Given the description of an element on the screen output the (x, y) to click on. 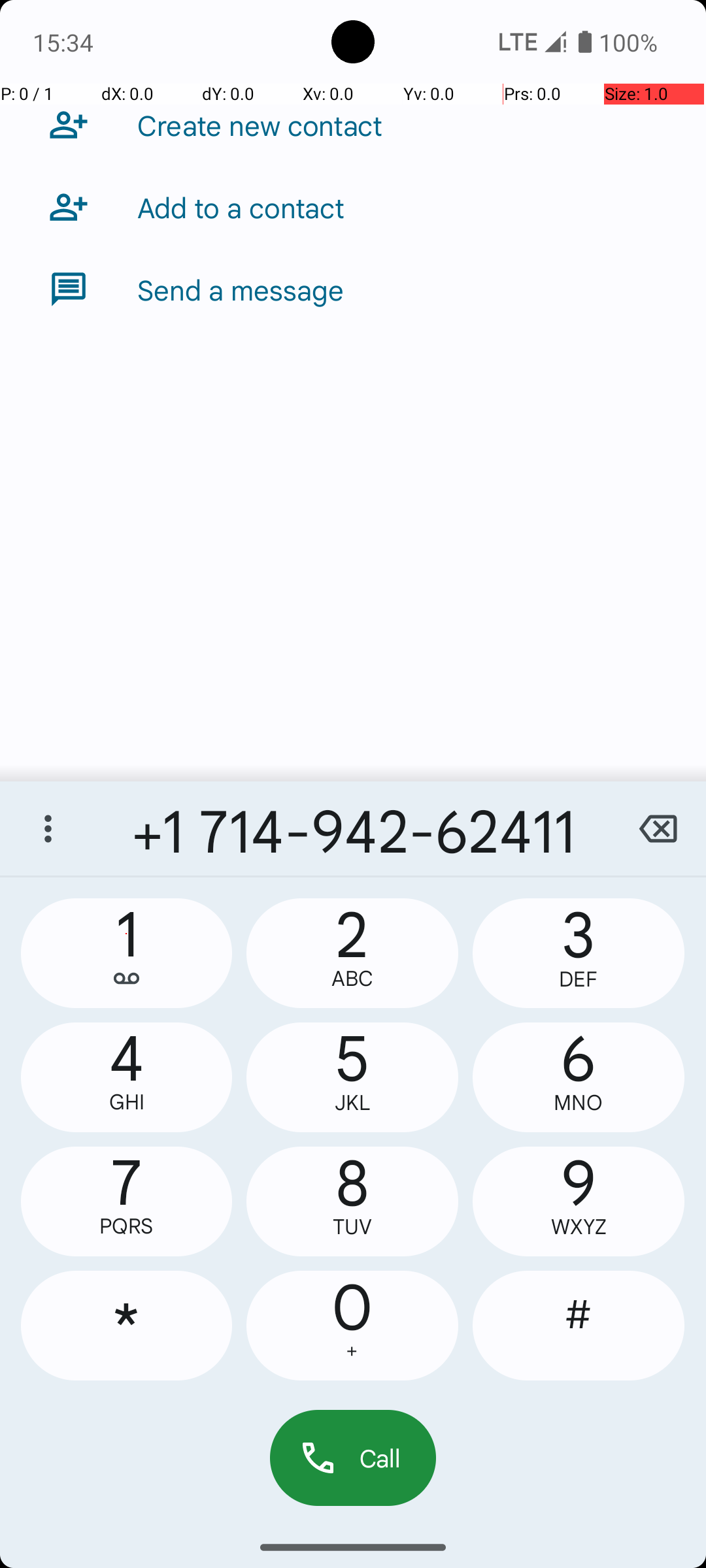
+1 714-942-62411 Element type: android.widget.EditText (352, 828)
Add to a contact Element type: android.widget.TextView (240, 206)
Send a message Element type: android.widget.TextView (240, 289)
